Given the description of an element on the screen output the (x, y) to click on. 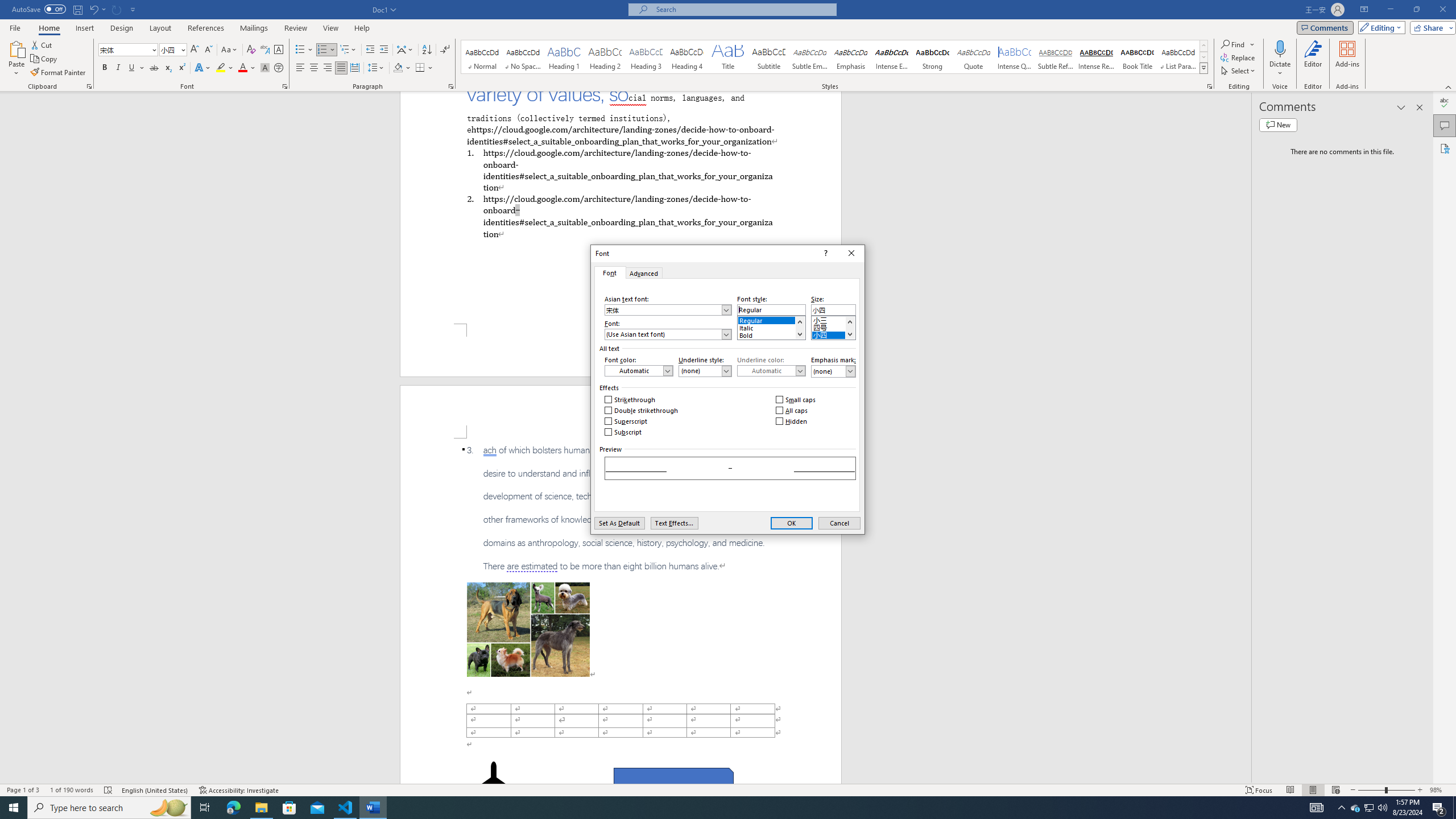
Heading 3 (646, 56)
